Given the description of an element on the screen output the (x, y) to click on. 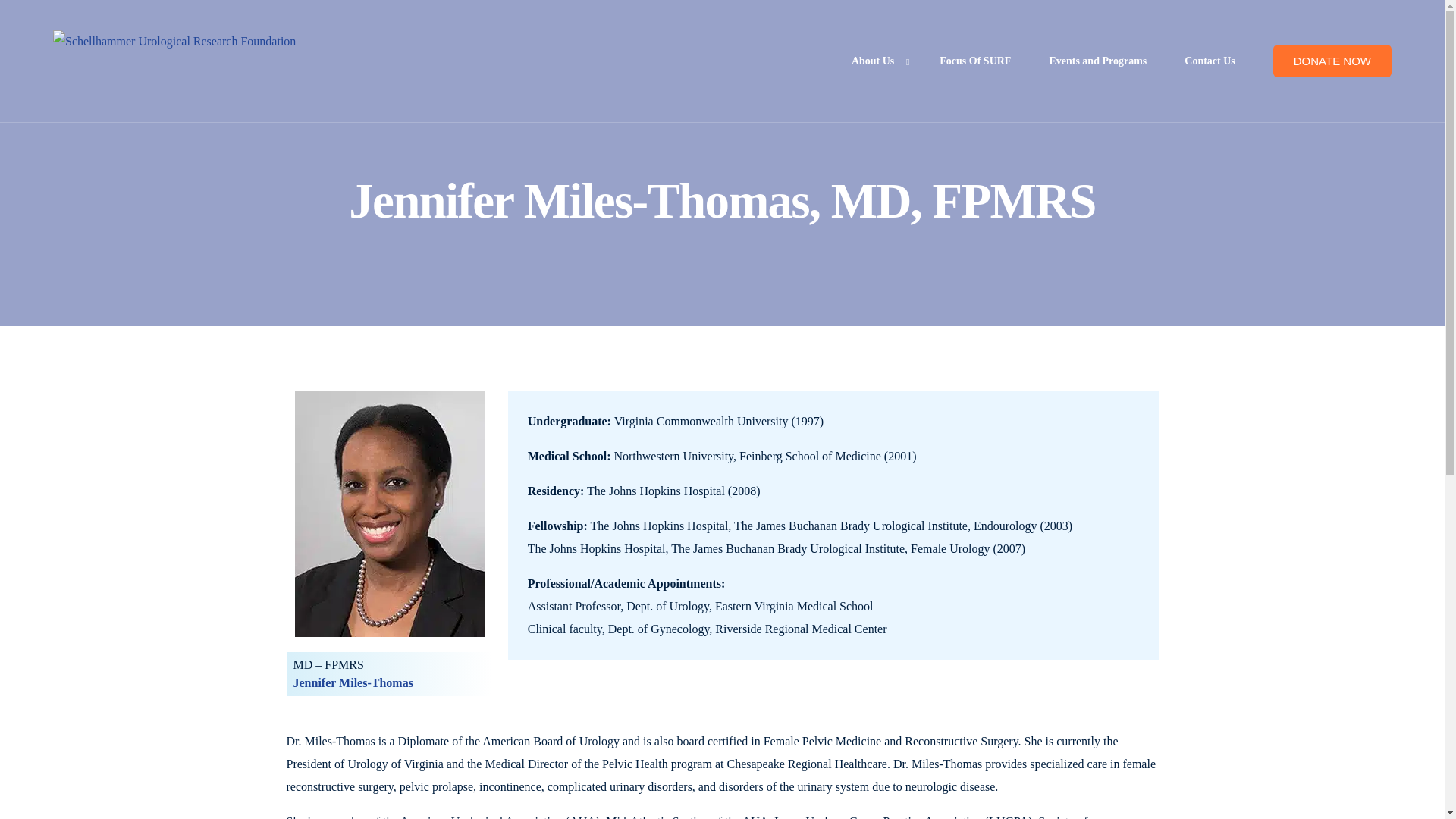
Events and Programs (1097, 61)
DONATE NOW (1331, 60)
Focus Of SURF (974, 61)
Jennifer Miles-Thomas (352, 682)
